Given the description of an element on the screen output the (x, y) to click on. 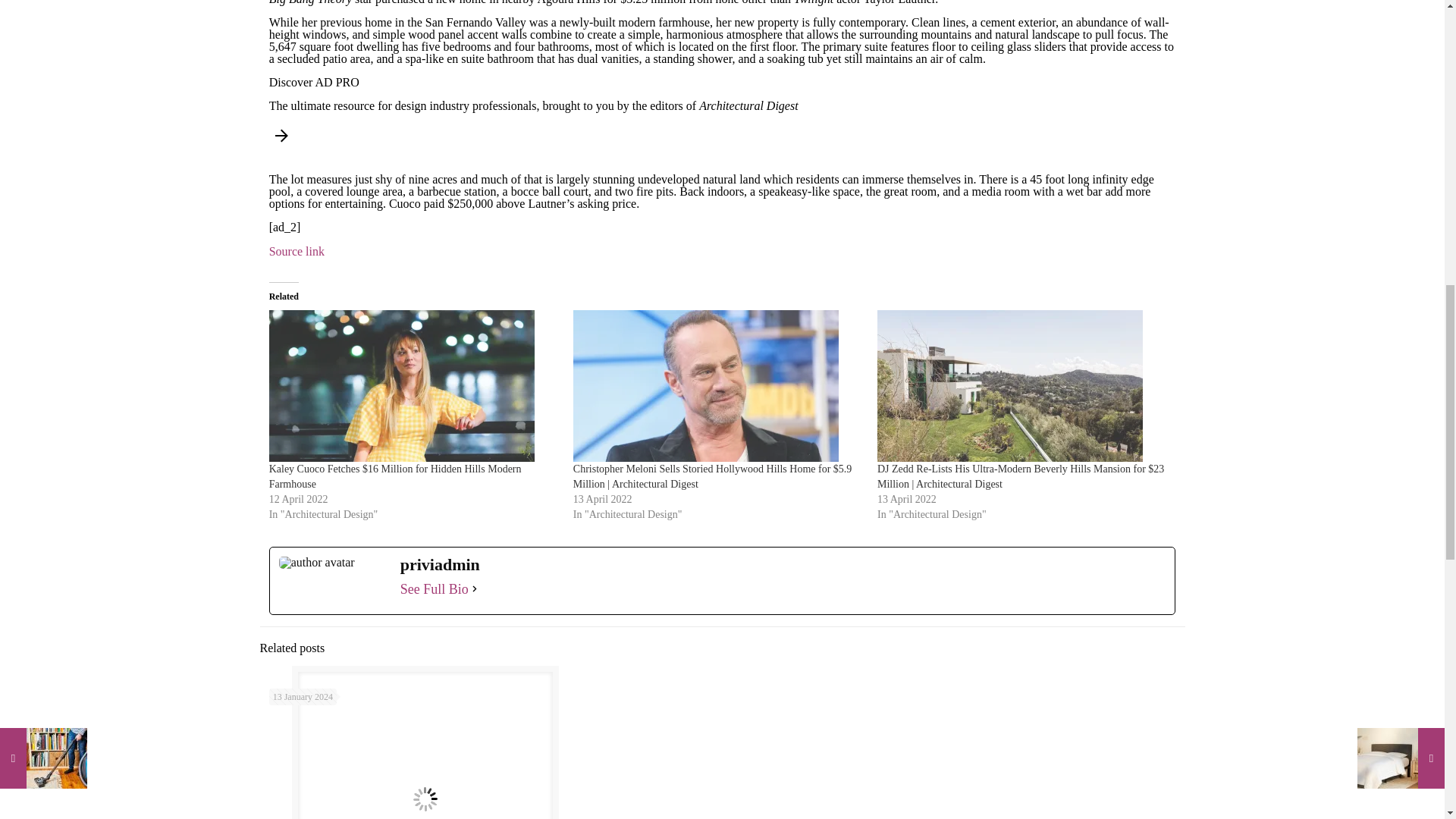
Babecue-Area-80694.jpeg - Priviglaze Smart Glass UK (425, 745)
See Full Bio (434, 589)
Source link (296, 250)
Arrow (281, 135)
